Given the description of an element on the screen output the (x, y) to click on. 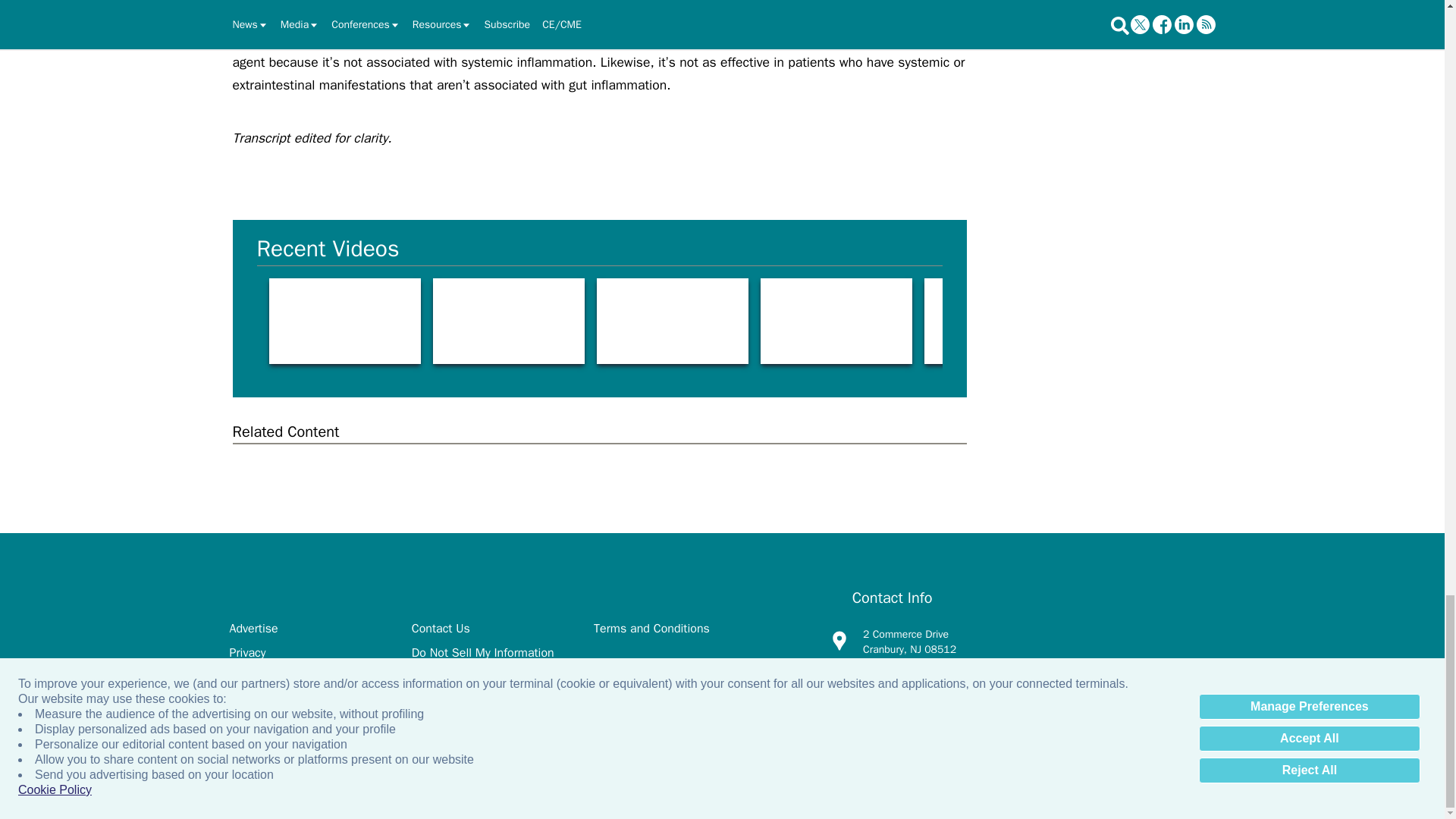
inflammatory bowel disease (999, 320)
IBD treatment (343, 320)
inflammatory bowel disease (1326, 320)
inflammatory bowel disease (671, 320)
inflammatory bowel disease (835, 320)
ulcerative colitis (1163, 320)
IBD treatment (507, 320)
